Given the description of an element on the screen output the (x, y) to click on. 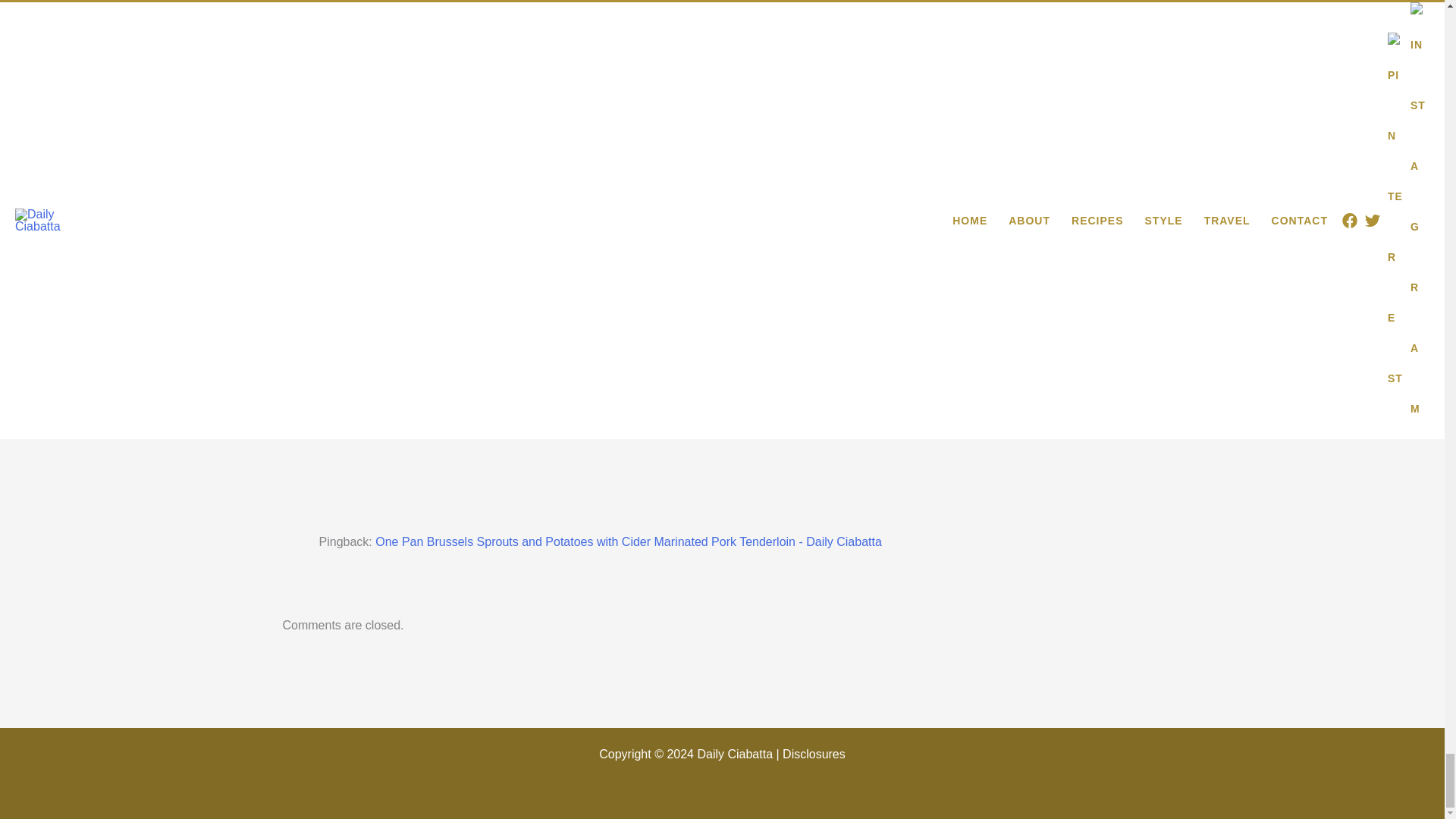
Grilled Pineapple Farro Kale Salad - Daily Ciabatta (511, 301)
Grilled Pineapple Farro Kale Salad - Daily Ciabatta (511, 421)
